Given the description of an element on the screen output the (x, y) to click on. 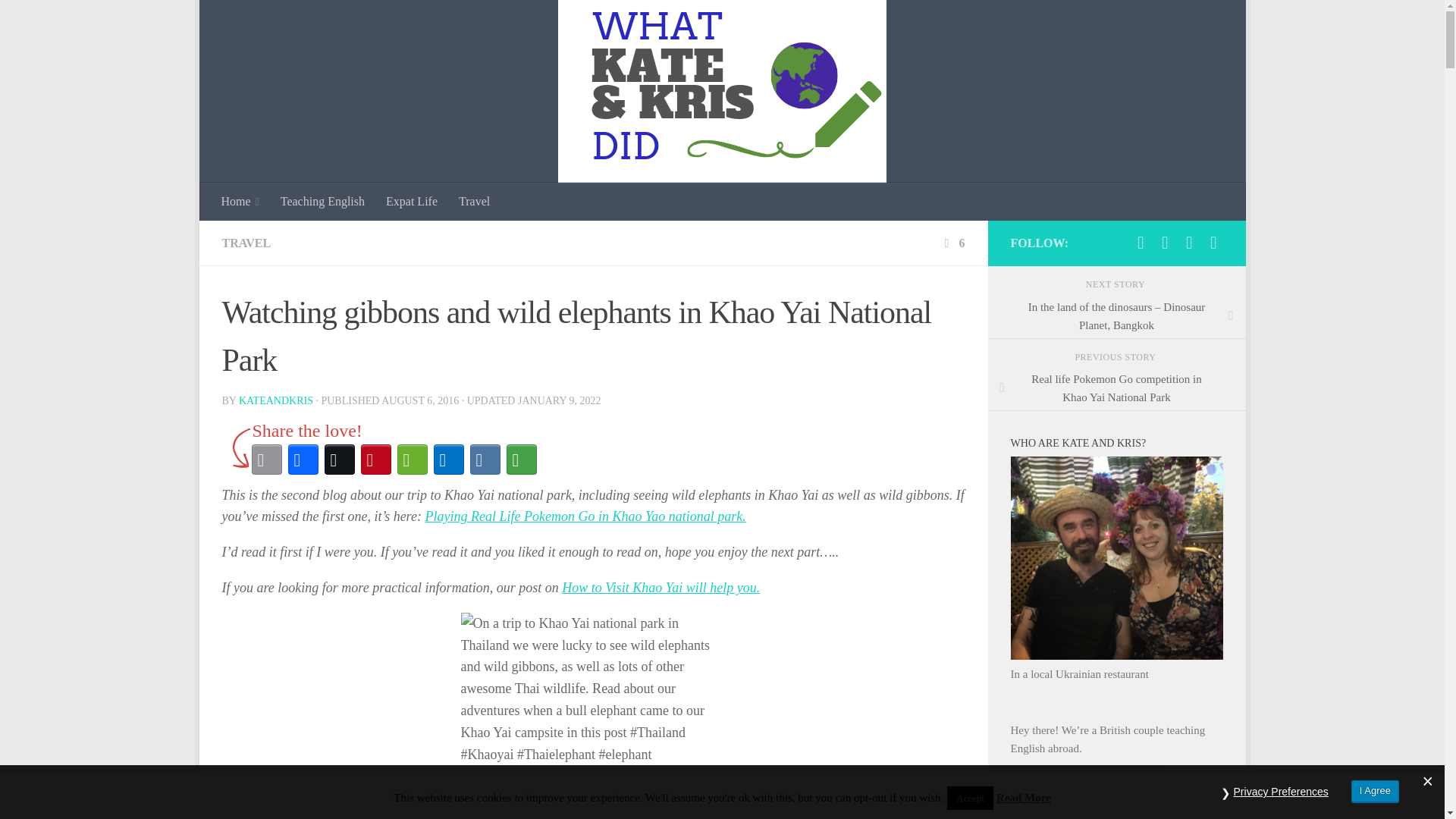
Email This (266, 459)
Travel (474, 201)
TRAVEL (245, 242)
Posts by KateandKris (275, 400)
Teaching English (322, 201)
More Options (521, 459)
Expat Life (411, 201)
Pinterest (376, 459)
KATEANDKRIS (275, 400)
Home (240, 201)
Facebook (303, 459)
Evernote (412, 459)
How to Visit Khao Yai will help you. (661, 587)
Outlook (448, 459)
VK (485, 459)
